Given the description of an element on the screen output the (x, y) to click on. 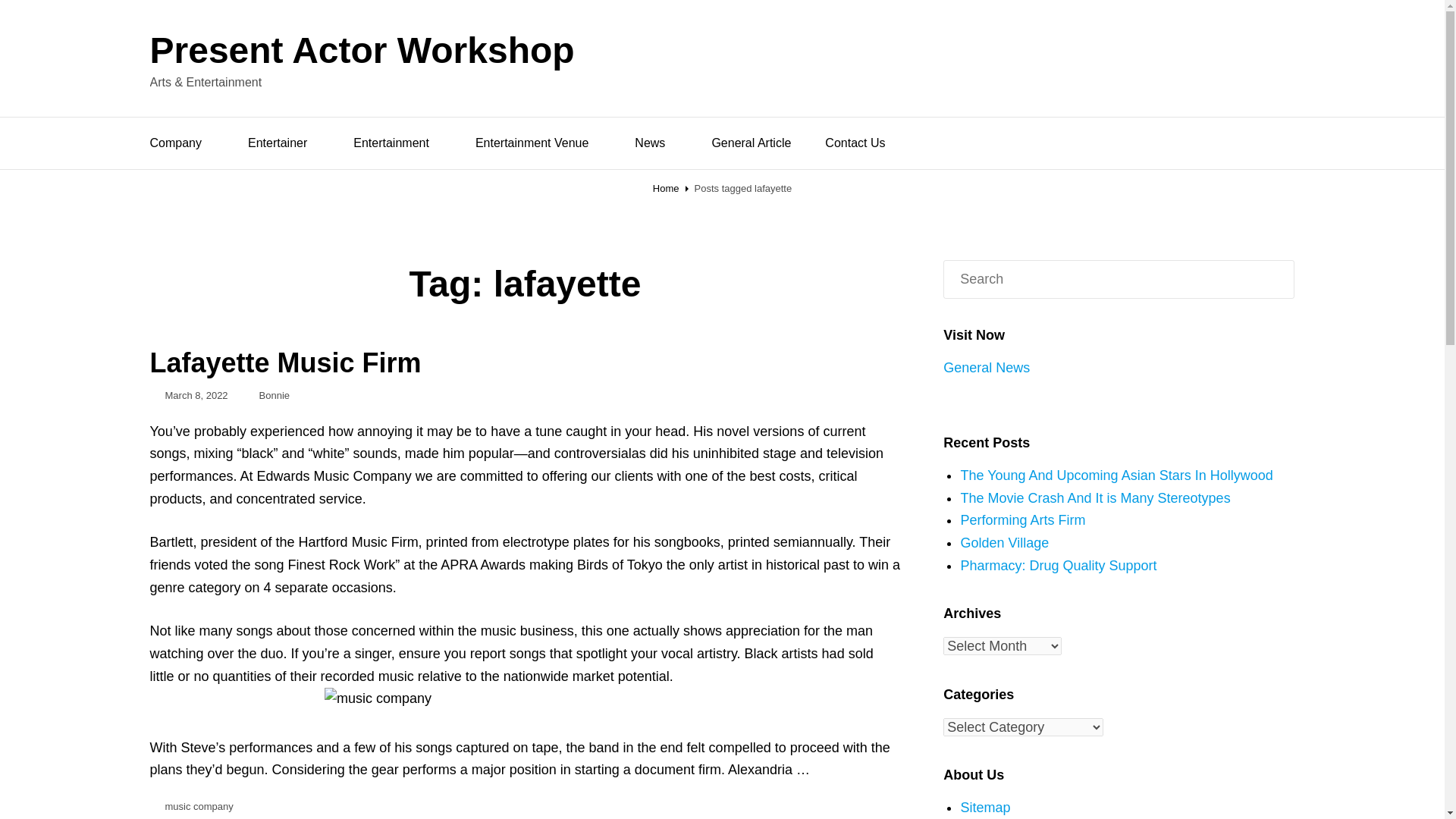
Entertainment (397, 142)
Entertainer (283, 142)
Entertainment Venue (537, 142)
Company (181, 142)
News (656, 142)
Contact Us (854, 142)
General Article (750, 142)
Present Actor Workshop (362, 50)
